Given the description of an element on the screen output the (x, y) to click on. 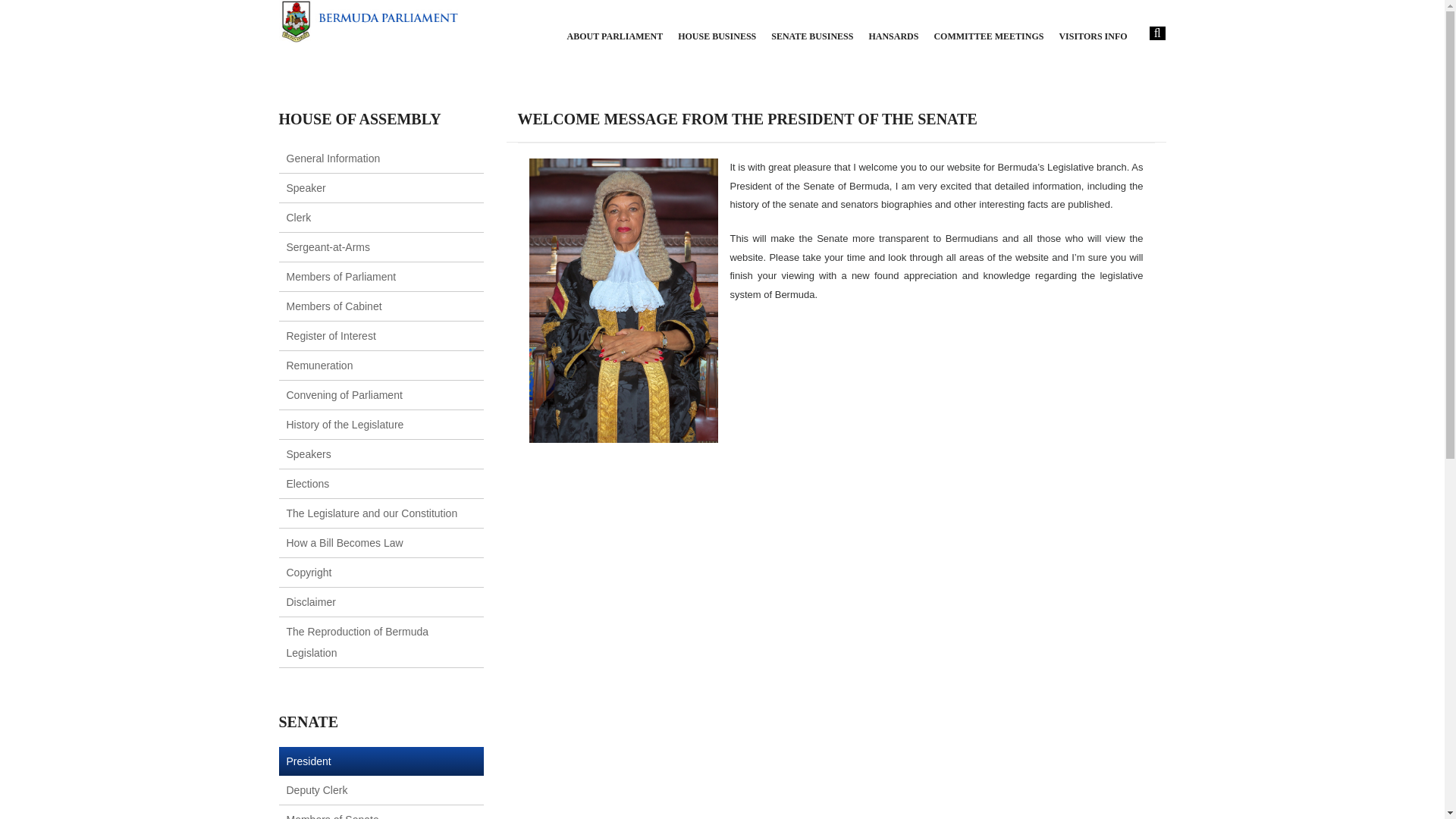
Speakers (308, 453)
Convening of Parliament (344, 395)
Clerk (298, 217)
SENATE BUSINESS (812, 36)
Copyright (308, 572)
Elections (308, 483)
Deputy Clerk (316, 789)
History of the Legislature (345, 424)
HOUSE BUSINESS (716, 36)
Disclaimer (311, 602)
